Given the description of an element on the screen output the (x, y) to click on. 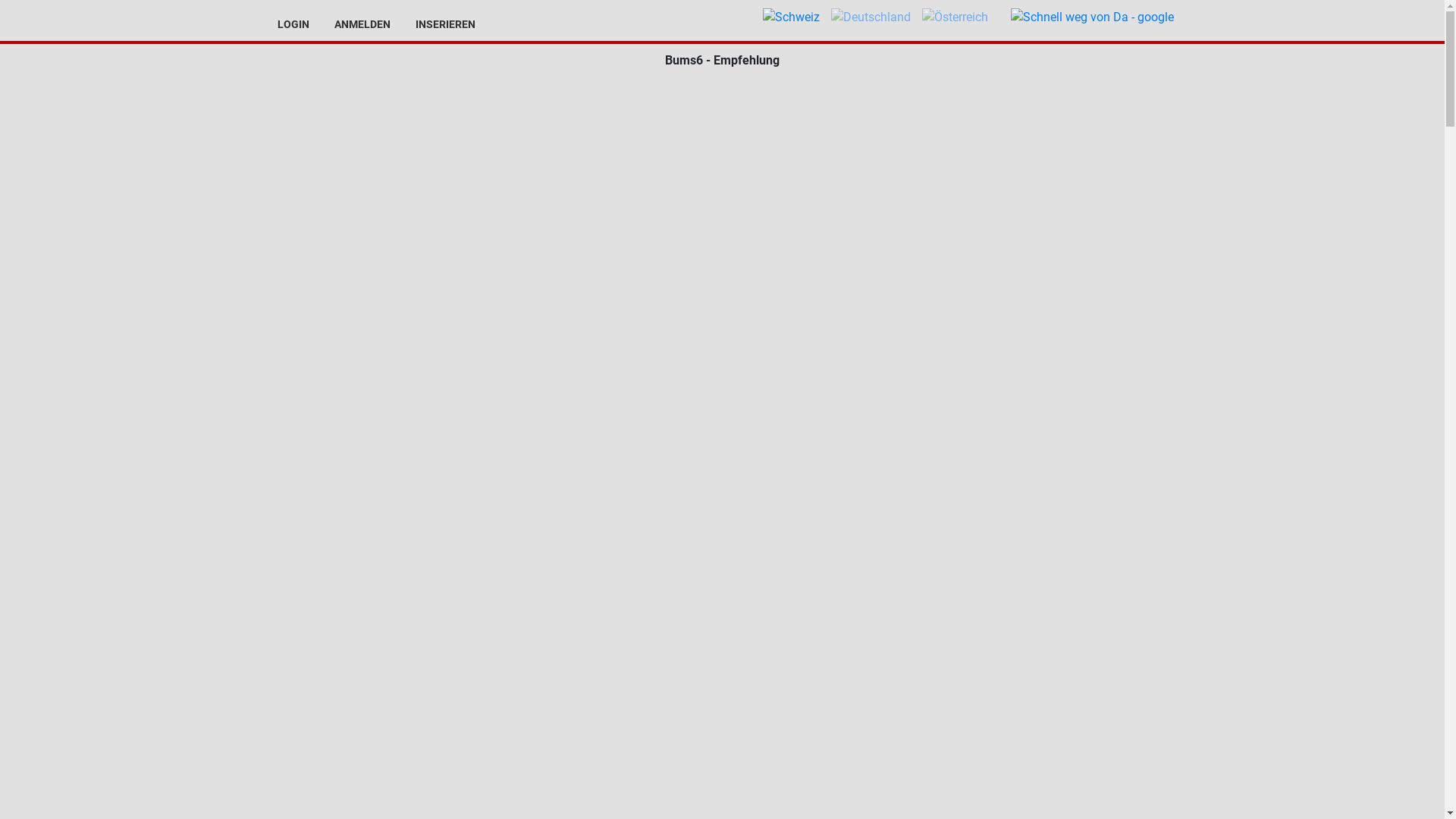
ANMELDEN Element type: text (358, 24)
LOGIN Element type: text (290, 24)
INSERIEREN Element type: text (442, 24)
